Given the description of an element on the screen output the (x, y) to click on. 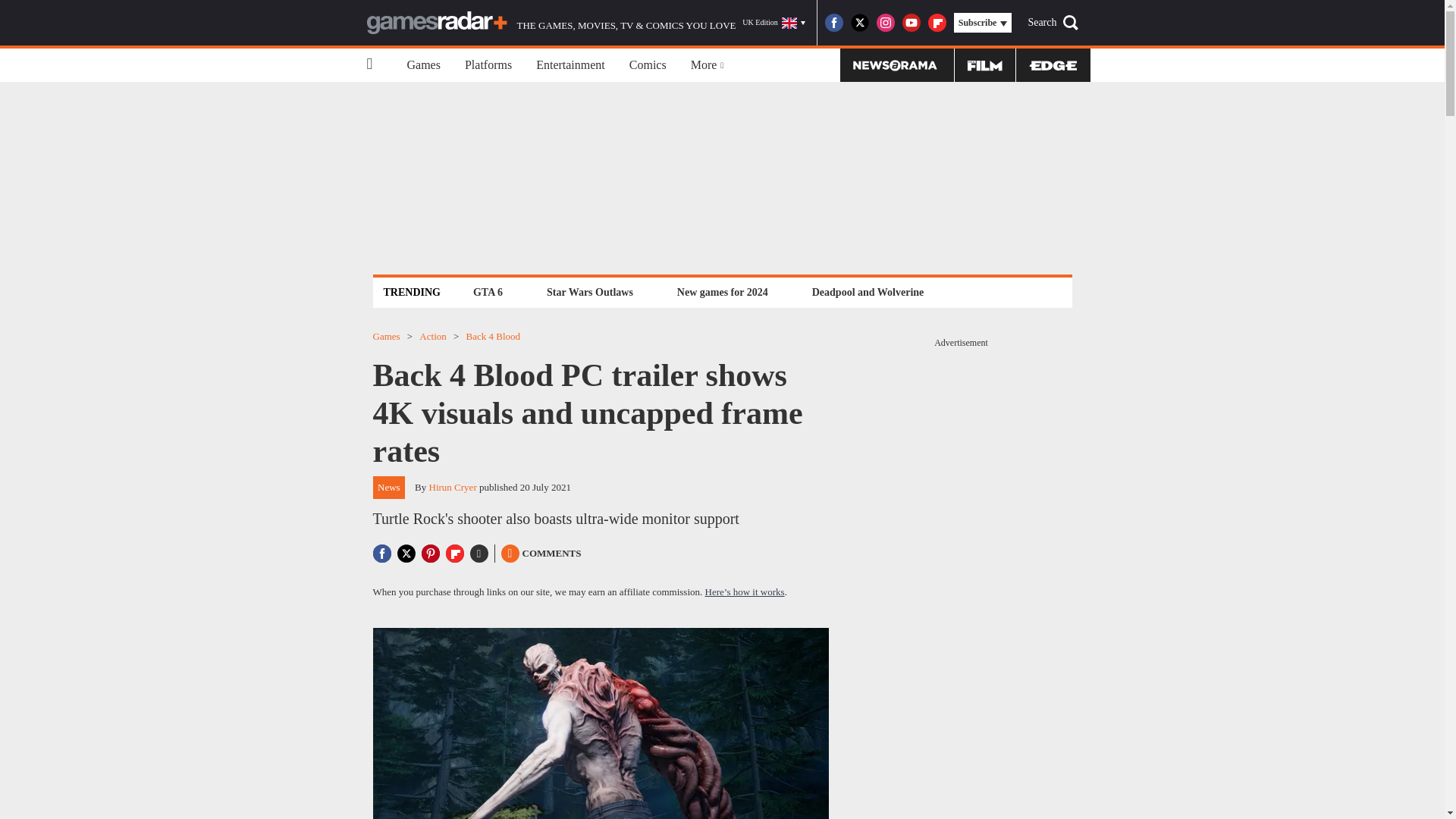
Deadpool and Wolverine (868, 292)
New games for 2024 (722, 292)
GTA 6 (487, 292)
UK Edition (773, 22)
Platforms (488, 64)
Entertainment (570, 64)
Comics (647, 64)
Star Wars Outlaws (590, 292)
Games (422, 64)
